Given the description of an element on the screen output the (x, y) to click on. 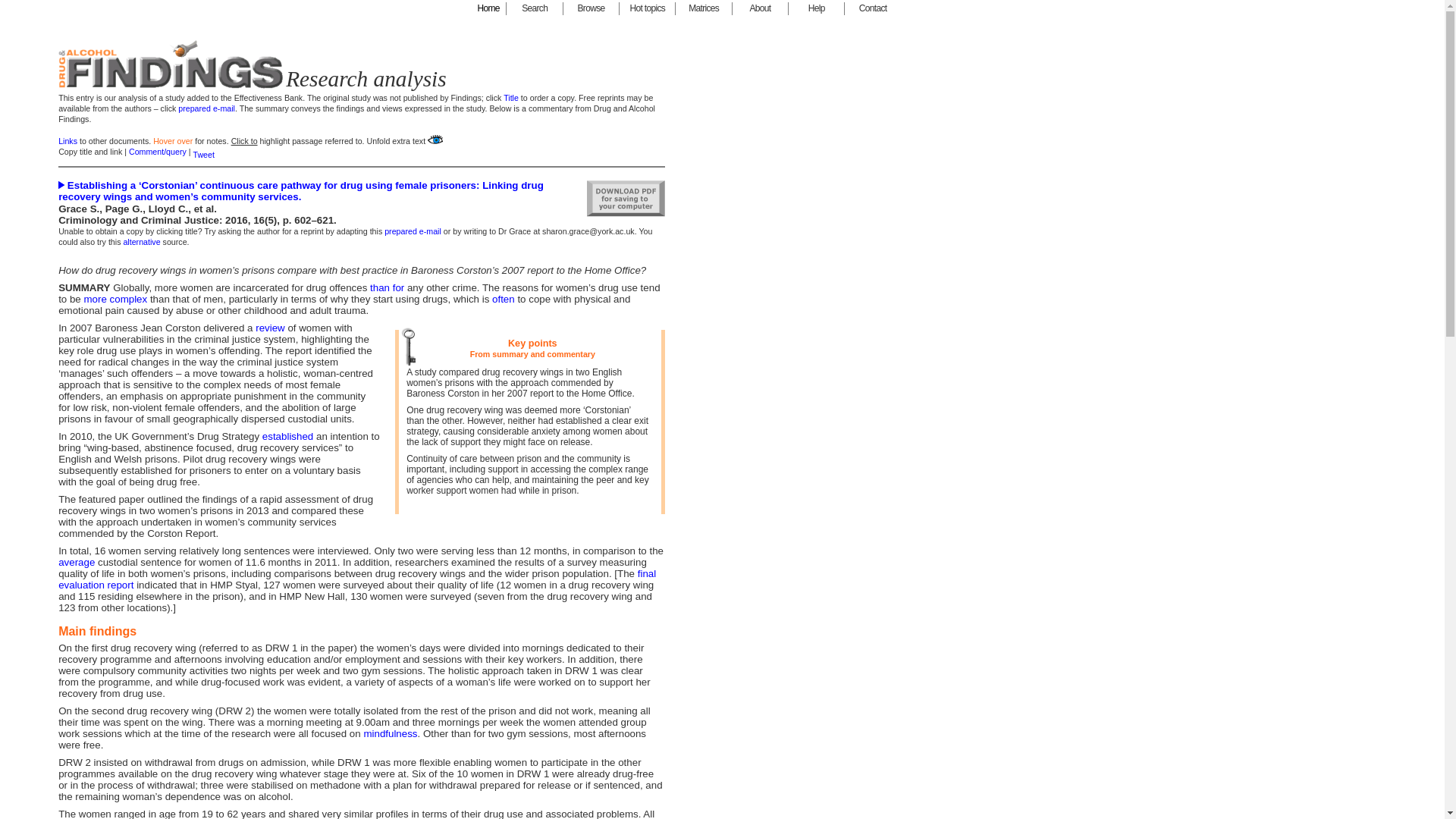
How to find the research you are looking for (534, 8)
established (287, 436)
often (503, 298)
alternative (141, 241)
Home (488, 8)
more complex (114, 298)
Browse through our research analysis and magazine (591, 8)
prepared e-mail (412, 230)
Tweet (203, 153)
Important and controversial issues (647, 8)
Effectiveness Bank home page. Opens new window (488, 8)
About the Drug and Alcohol Findings Effectiveness Bank (760, 8)
Copy title and link (90, 151)
Seminal and key treatment research (703, 8)
than for (386, 287)
